Given the description of an element on the screen output the (x, y) to click on. 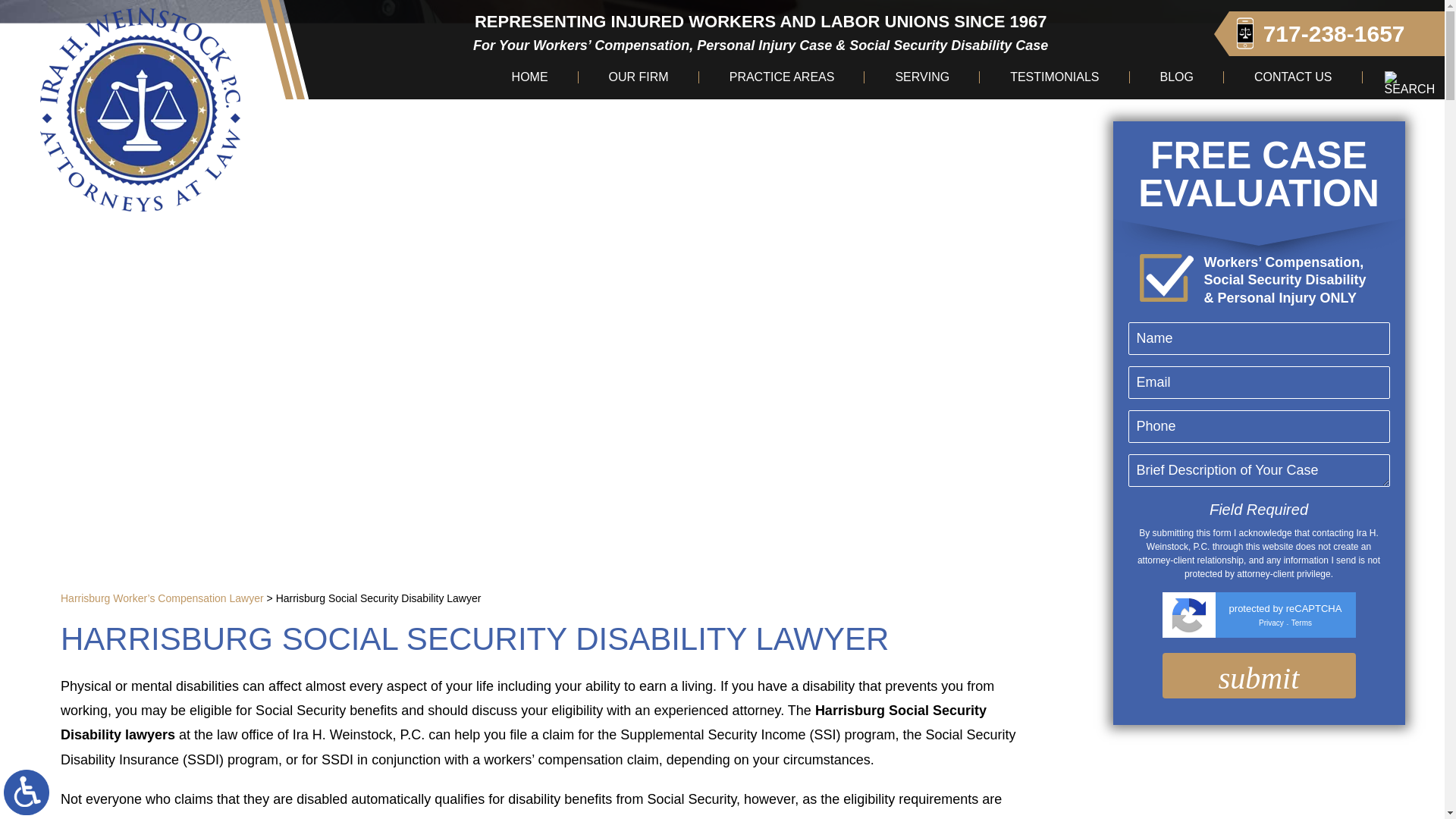
OUR FIRM (639, 76)
HOME (529, 76)
submit (1258, 675)
PRACTICE AREAS (782, 76)
Switch to ADA Accessible Theme (26, 791)
Search (1409, 83)
